Given the description of an element on the screen output the (x, y) to click on. 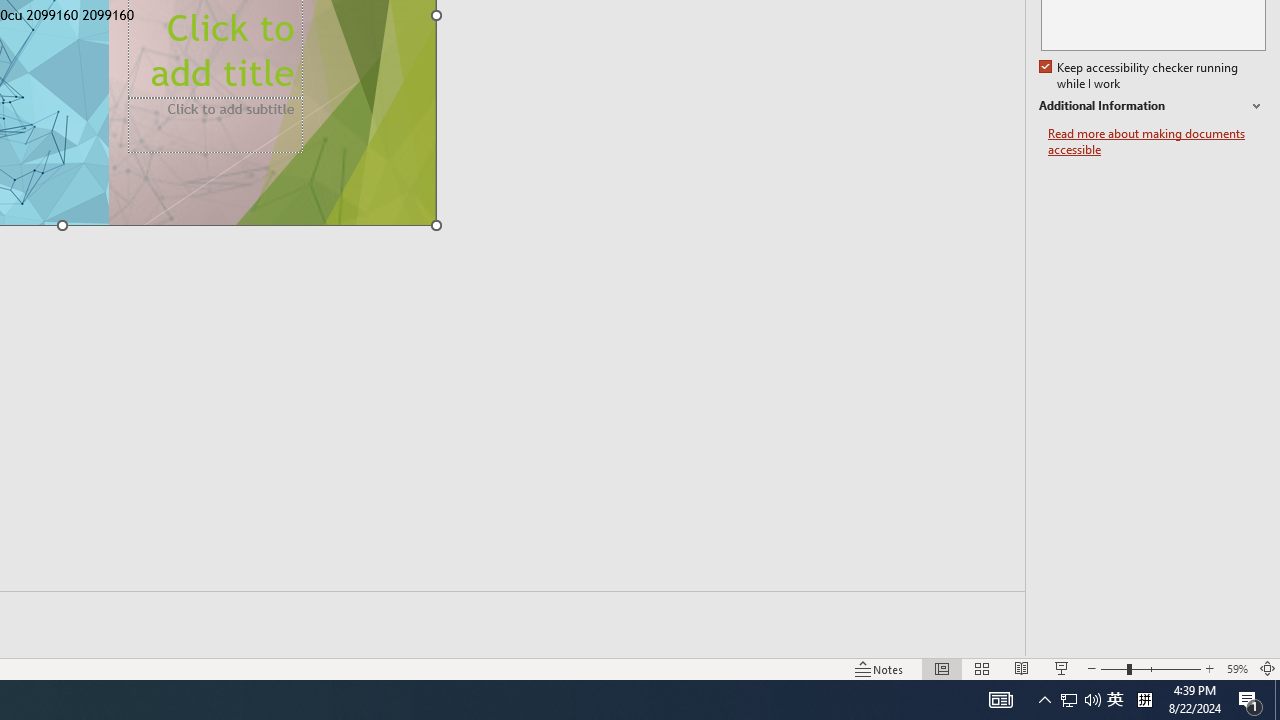
Zoom 59% (1236, 668)
